Given the description of an element on the screen output the (x, y) to click on. 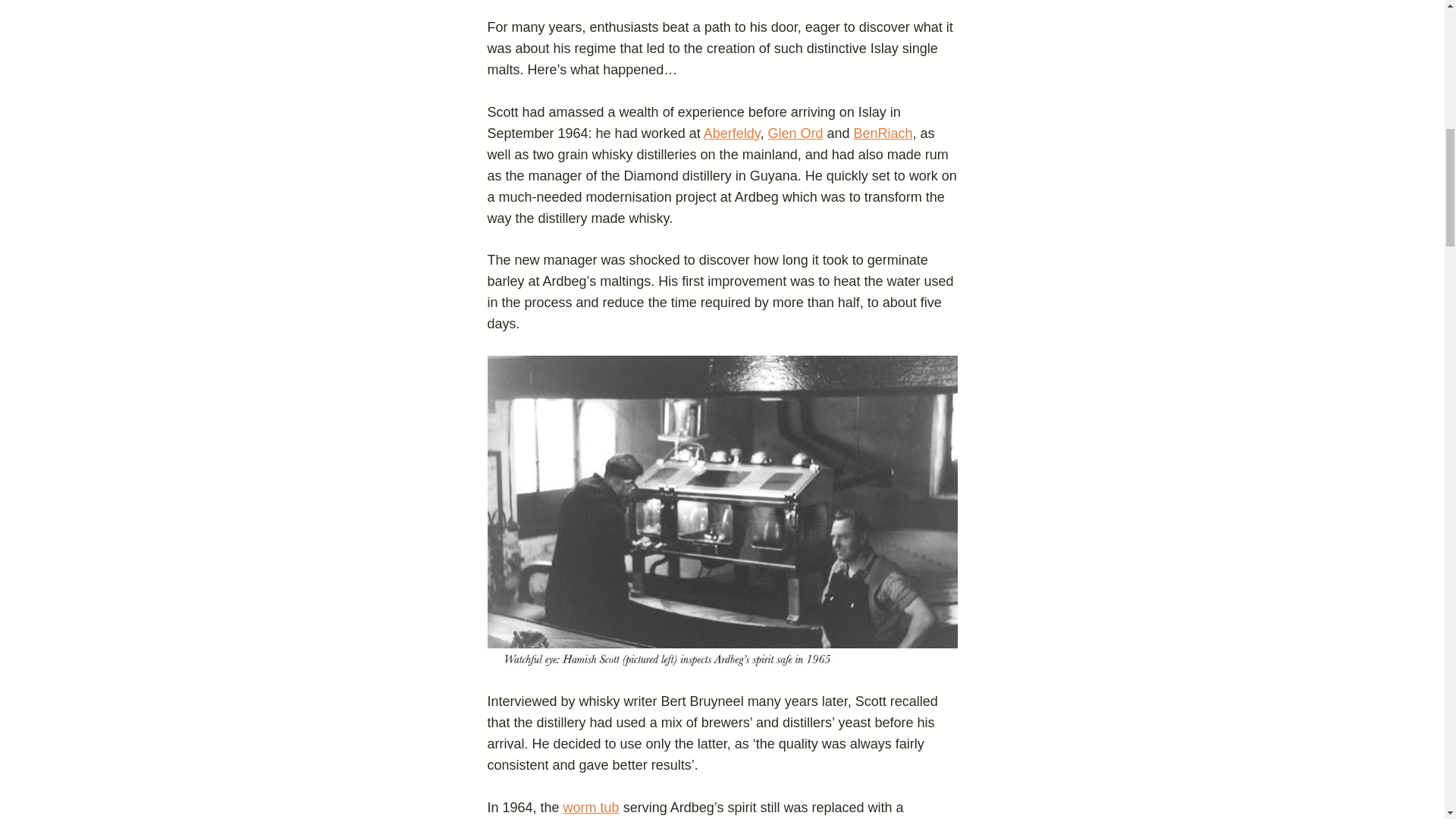
worm tub (591, 807)
BenRiach (882, 133)
Glen Ord (794, 133)
Aberfeldy (731, 133)
